Given the description of an element on the screen output the (x, y) to click on. 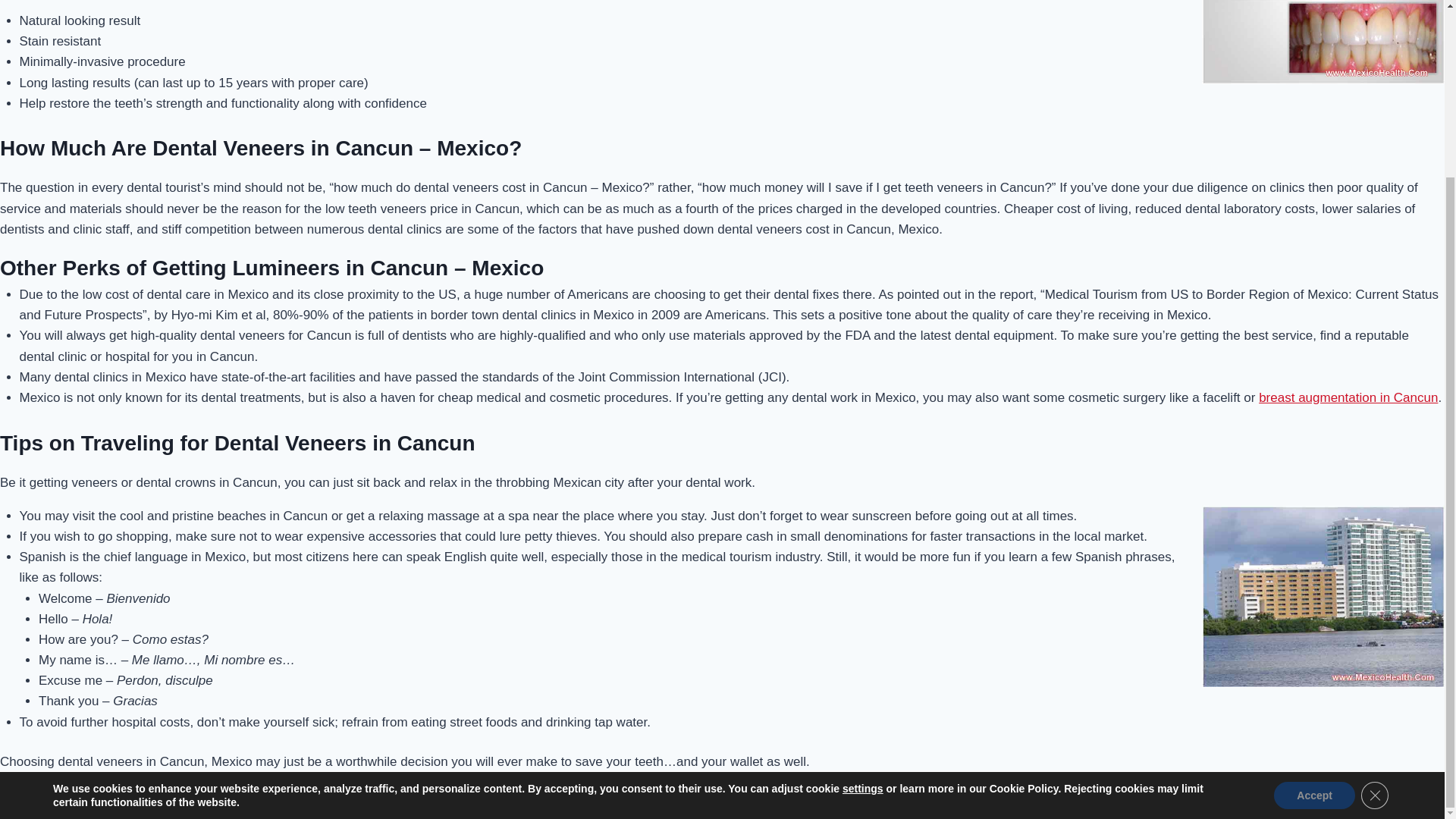
breast augmentation in Cancun (1348, 397)
Accept (1314, 578)
Close GDPR Cookie Banner (1375, 578)
Breast augmentation in Cancun  (1348, 397)
